Given the description of an element on the screen output the (x, y) to click on. 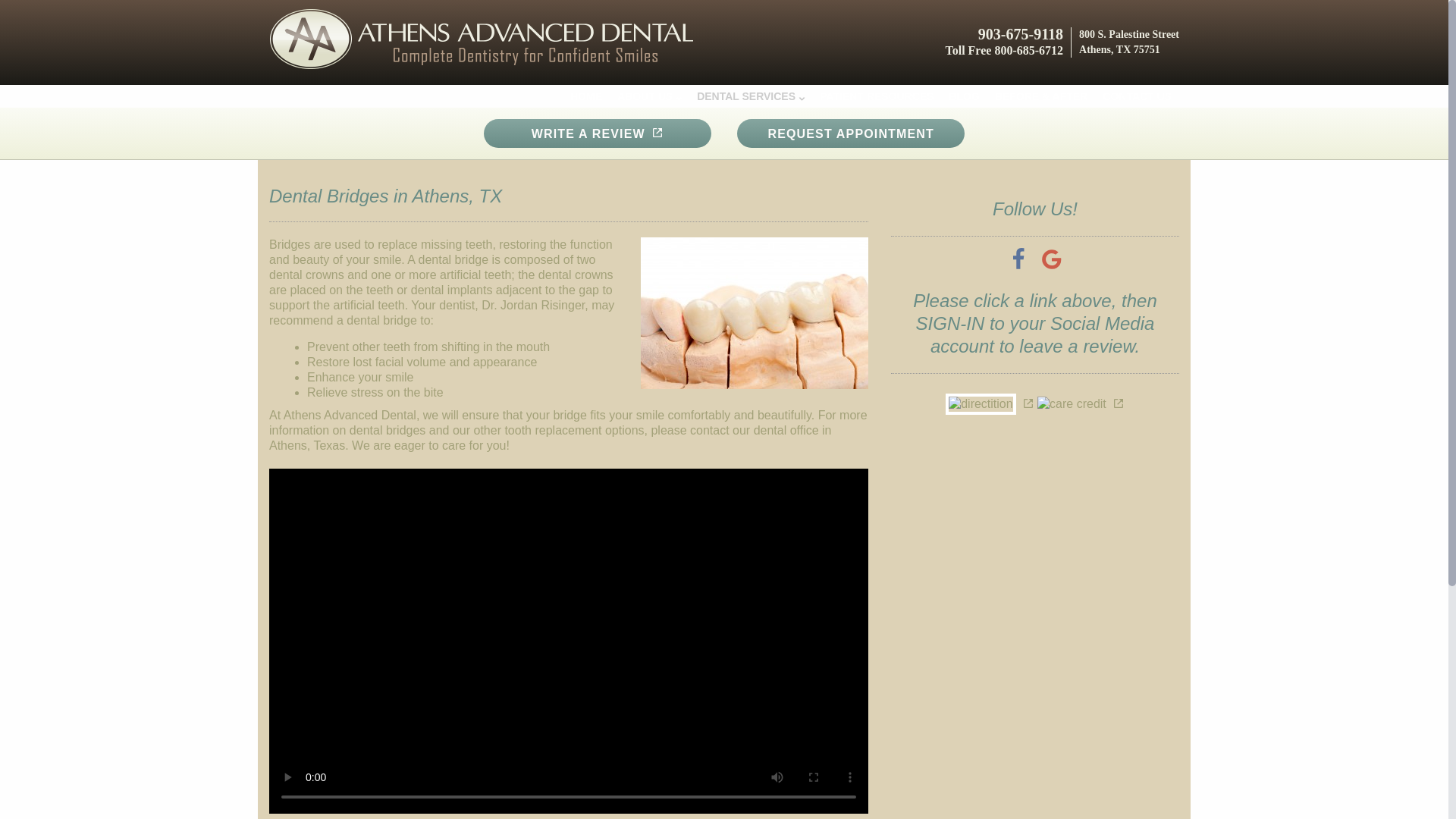
903-675-9118 (1037, 34)
Google icon (1051, 259)
HOME (586, 96)
Facebook icon (1018, 259)
ABOUT US (649, 96)
